Given the description of an element on the screen output the (x, y) to click on. 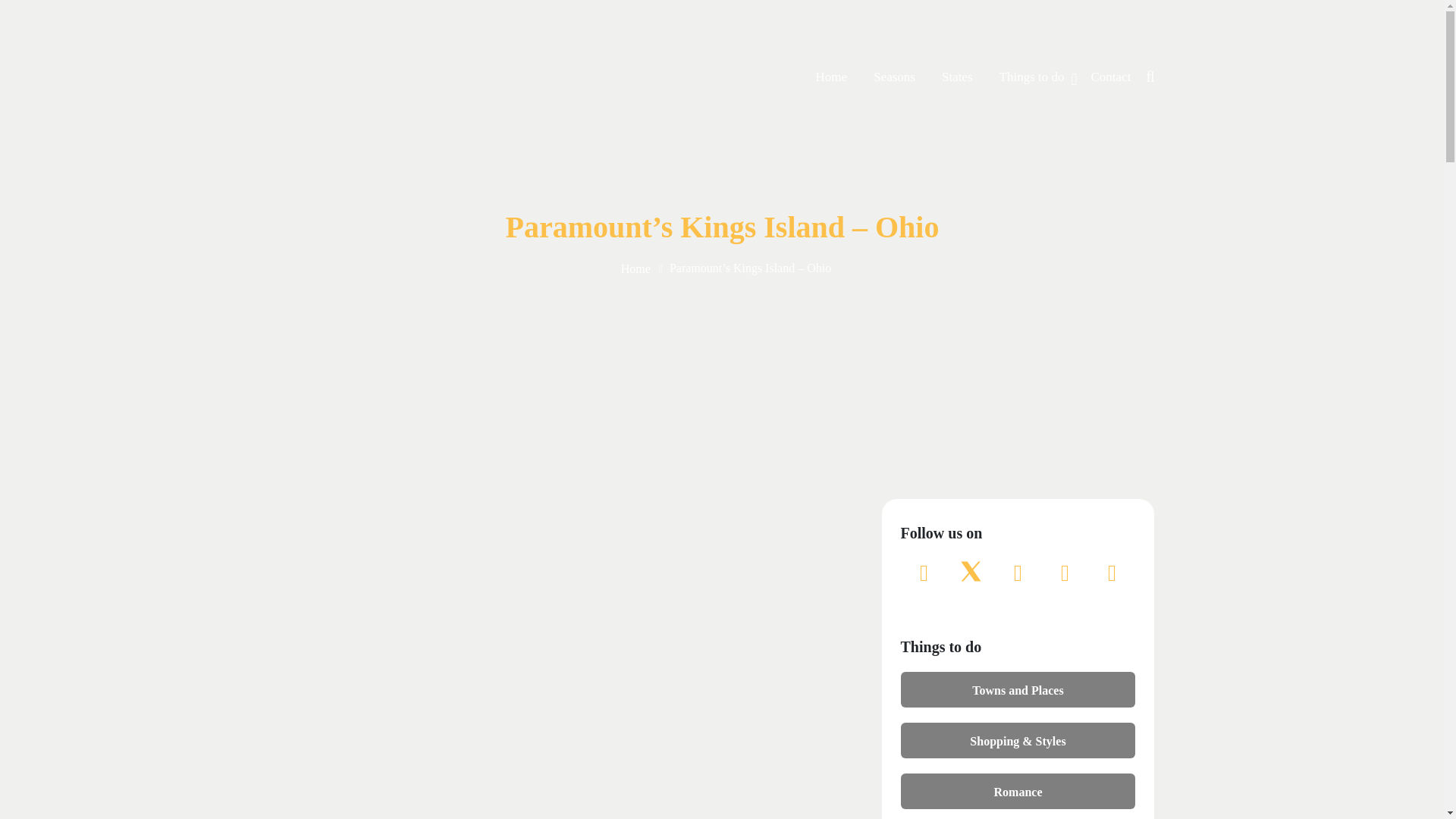
Towns and Places (1018, 688)
Home (831, 77)
Romance (1018, 789)
Things to do (1031, 77)
Contact (1110, 77)
States (957, 77)
Home (635, 268)
Seasons (894, 77)
